Given the description of an element on the screen output the (x, y) to click on. 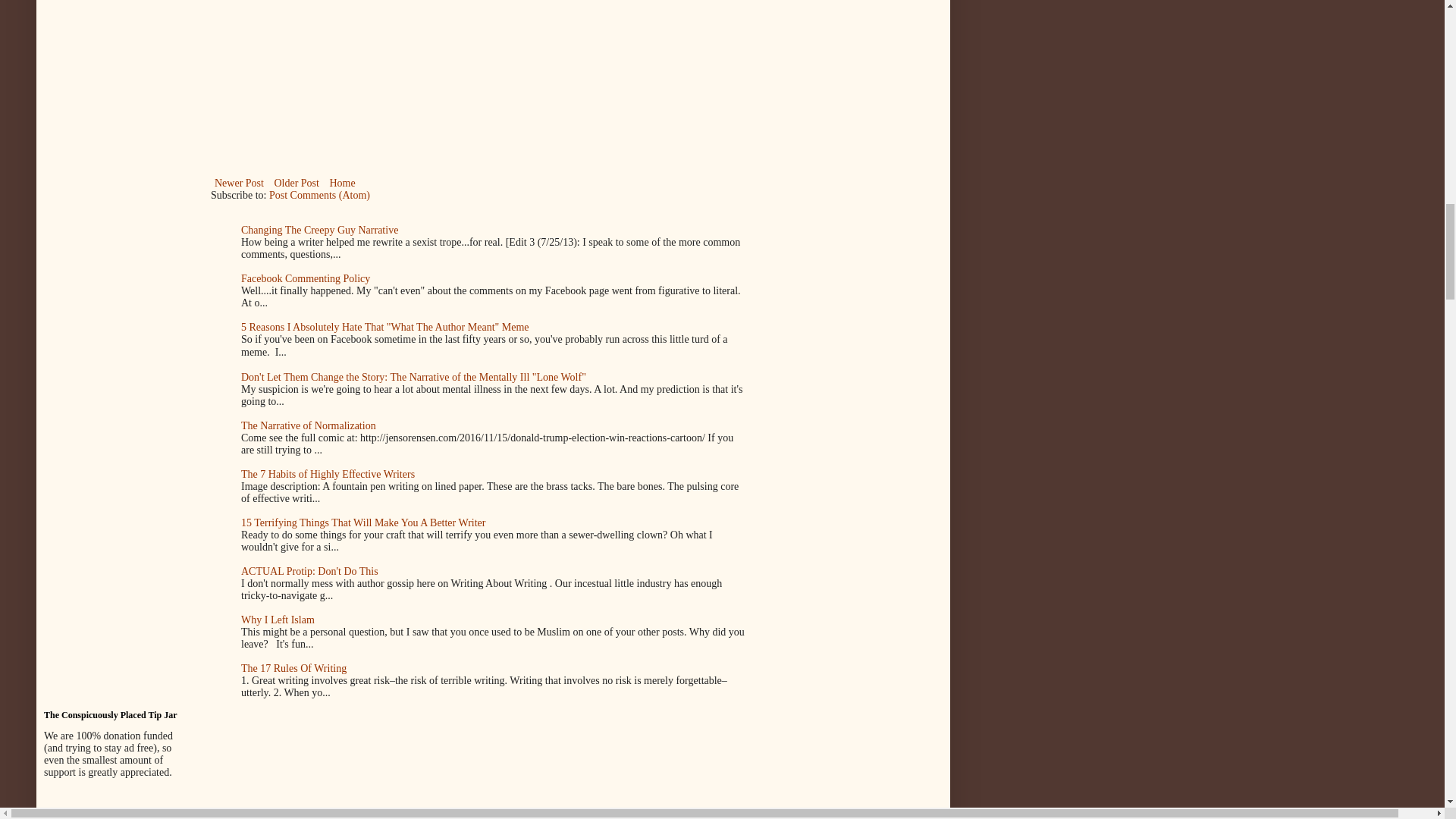
Older Post (296, 182)
Changing The Creepy Guy Narrative (319, 229)
Newer Post (239, 182)
Older Post (296, 182)
The Narrative of Normalization (308, 425)
Home (341, 182)
Facebook Commenting Policy (305, 278)
The 7 Habits of Highly Effective Writers (327, 473)
Newer Post (239, 182)
